Given the description of an element on the screen output the (x, y) to click on. 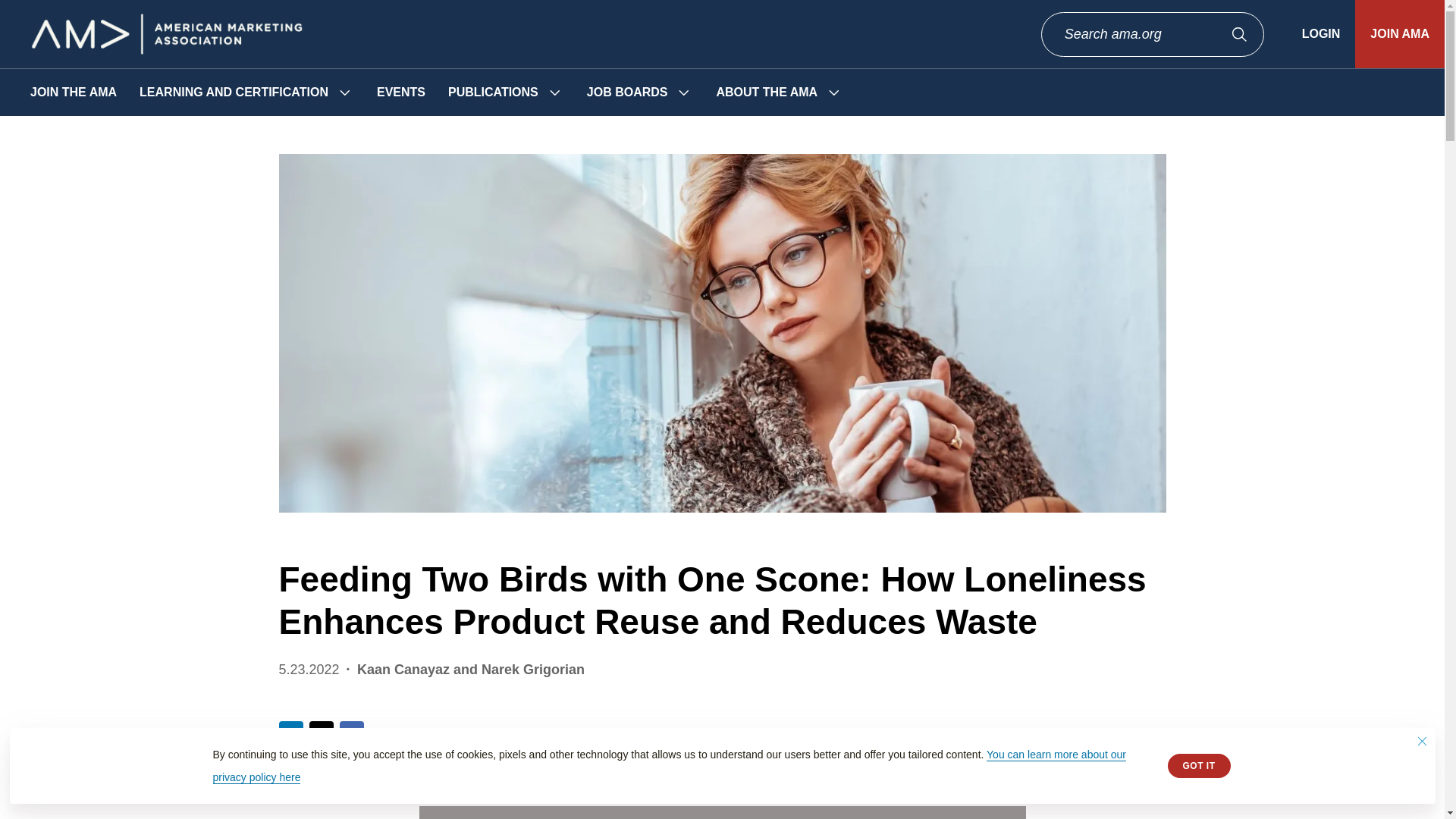
LOGIN (1321, 33)
PUBLICATIONS (493, 92)
EVENTS (401, 92)
JOIN THE AMA (73, 92)
LEARNING AND CERTIFICATION (234, 92)
ABOUT THE AMA (766, 92)
JOB BOARDS (627, 92)
